Given the description of an element on the screen output the (x, y) to click on. 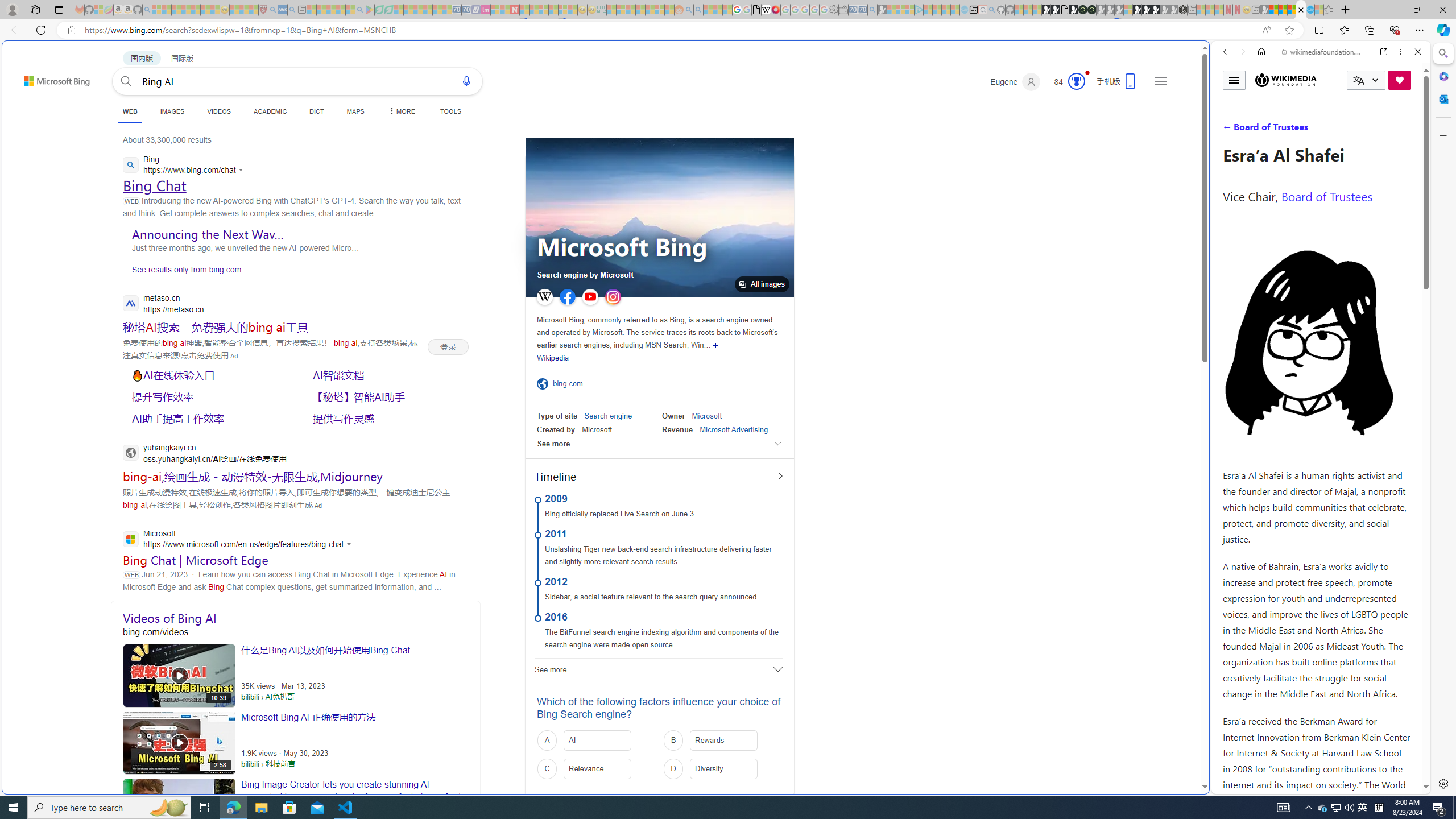
Microsoft (706, 415)
YouTube (590, 296)
utah sues federal government - Search (922, 389)
See results only from bing.com (181, 271)
Global web icon (1232, 786)
Sign in to your account - Sleeping (1127, 9)
Latest Politics News & Archive | Newsweek.com - Sleeping (514, 9)
